Given the description of an element on the screen output the (x, y) to click on. 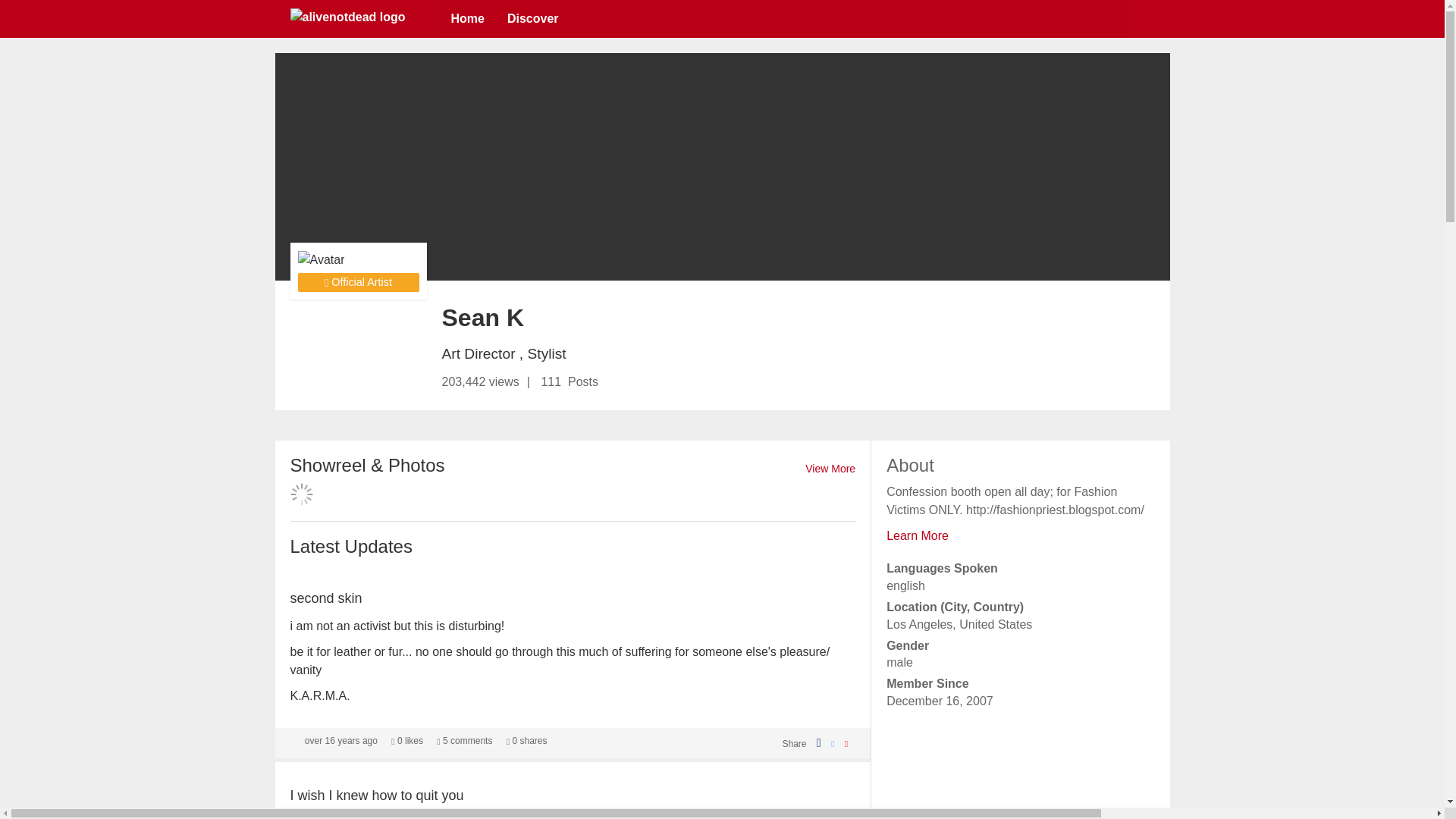
over 16 years ago (340, 740)
Discover (533, 18)
Home (467, 18)
 5 comments (464, 740)
View More (830, 469)
